Given the description of an element on the screen output the (x, y) to click on. 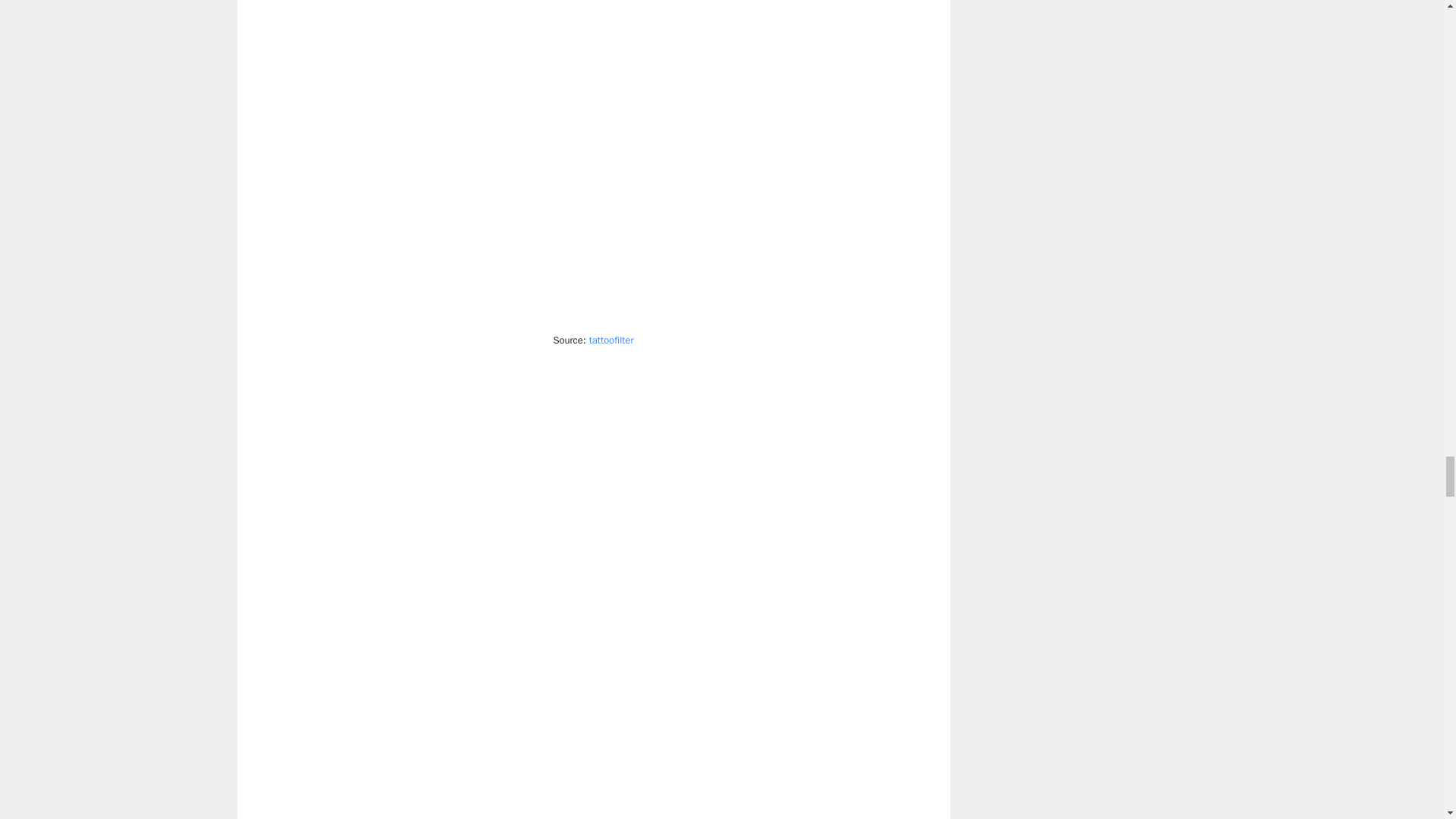
tattoofilter (611, 339)
